Given the description of an element on the screen output the (x, y) to click on. 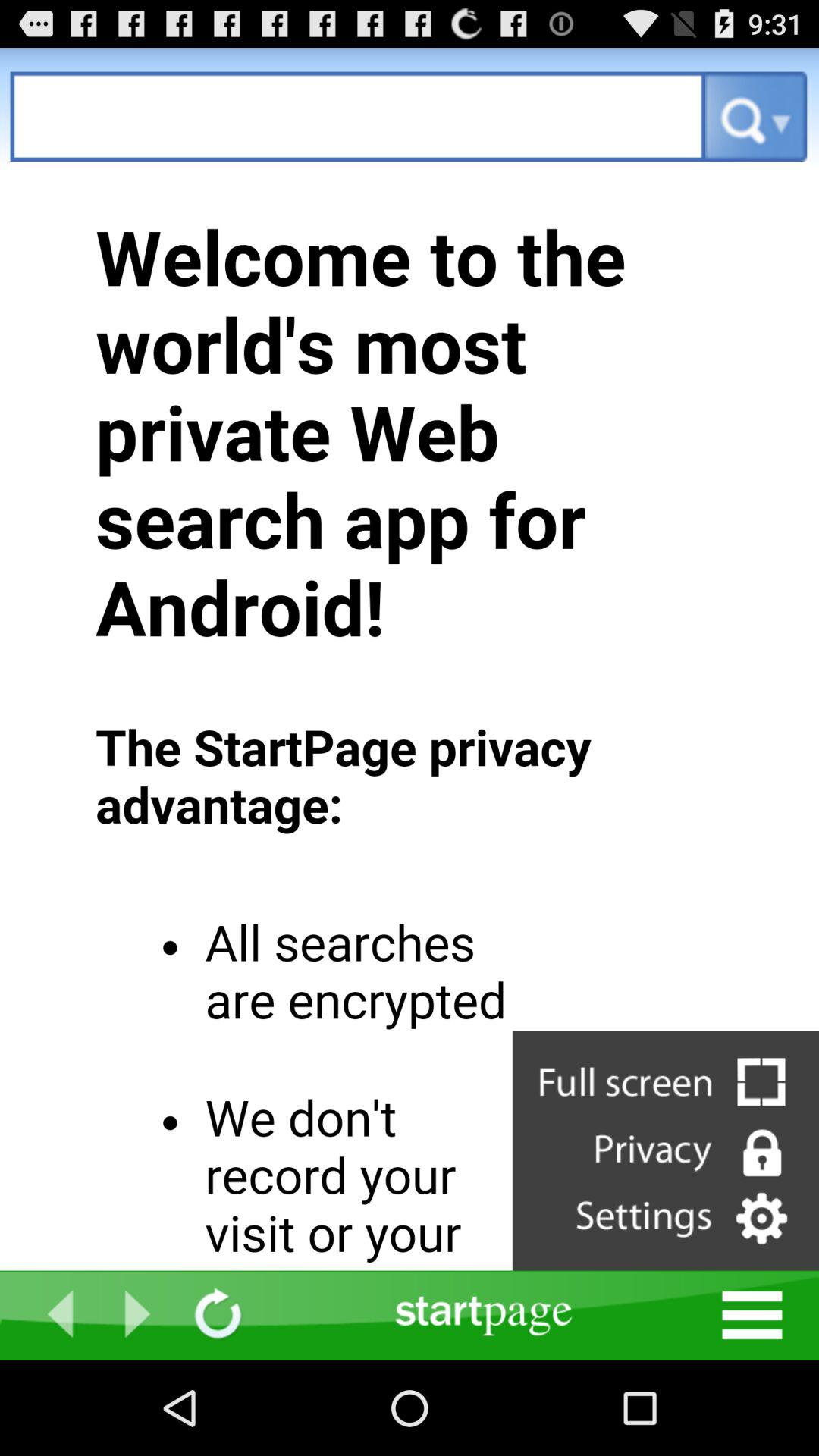
google search (357, 116)
